Given the description of an element on the screen output the (x, y) to click on. 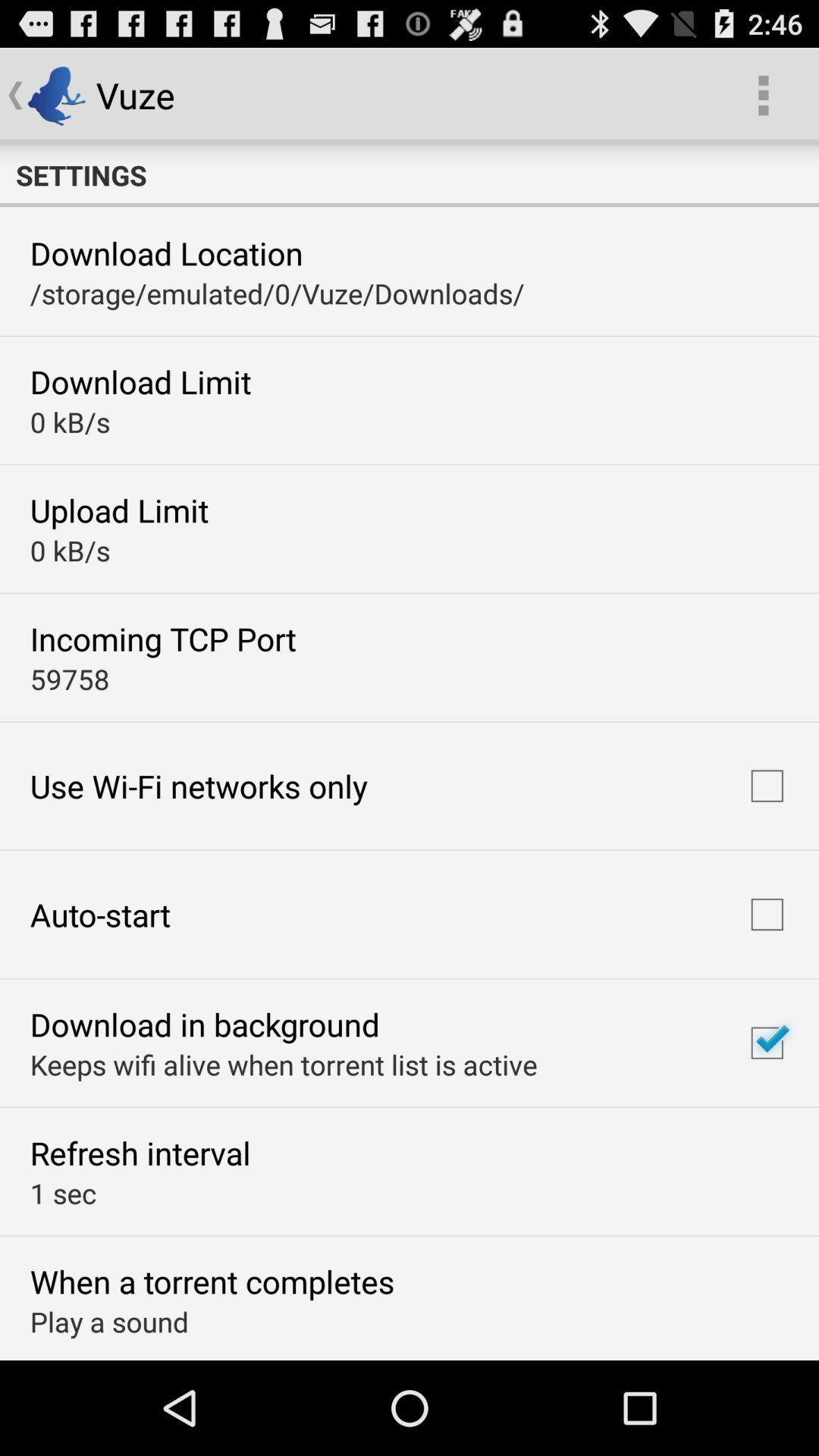
choose icon below the incoming tcp port (69, 678)
